Given the description of an element on the screen output the (x, y) to click on. 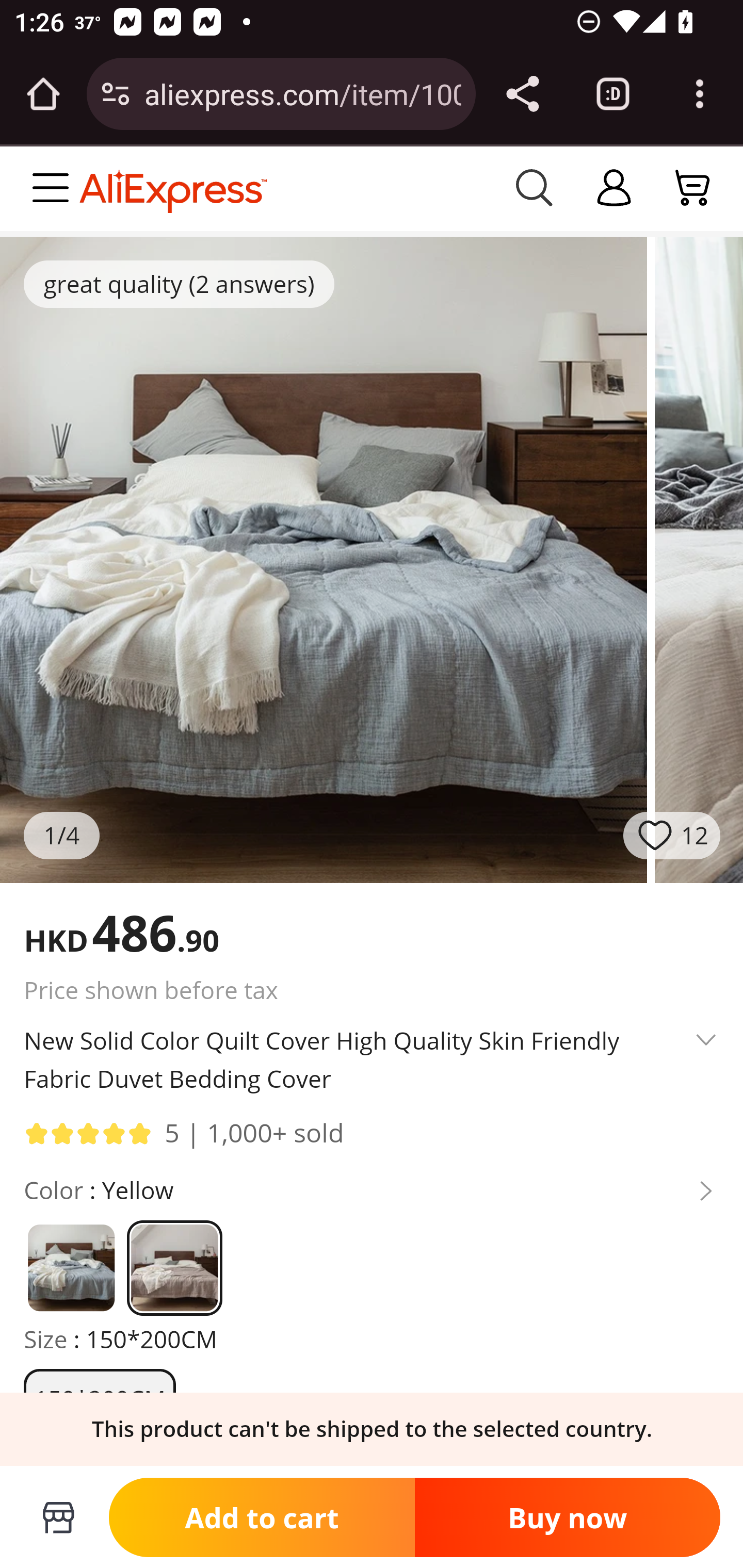
Open the home page (43, 93)
Connection is secure (115, 93)
Share (522, 93)
Switch or close tabs (612, 93)
Customize and control Google Chrome (699, 93)
aliexpress (285, 188)
category (54, 188)
shop (614, 188)
account (693, 188)
Add to cart (261, 1517)
Buy now (566, 1517)
store (43, 1516)
